Given the description of an element on the screen output the (x, y) to click on. 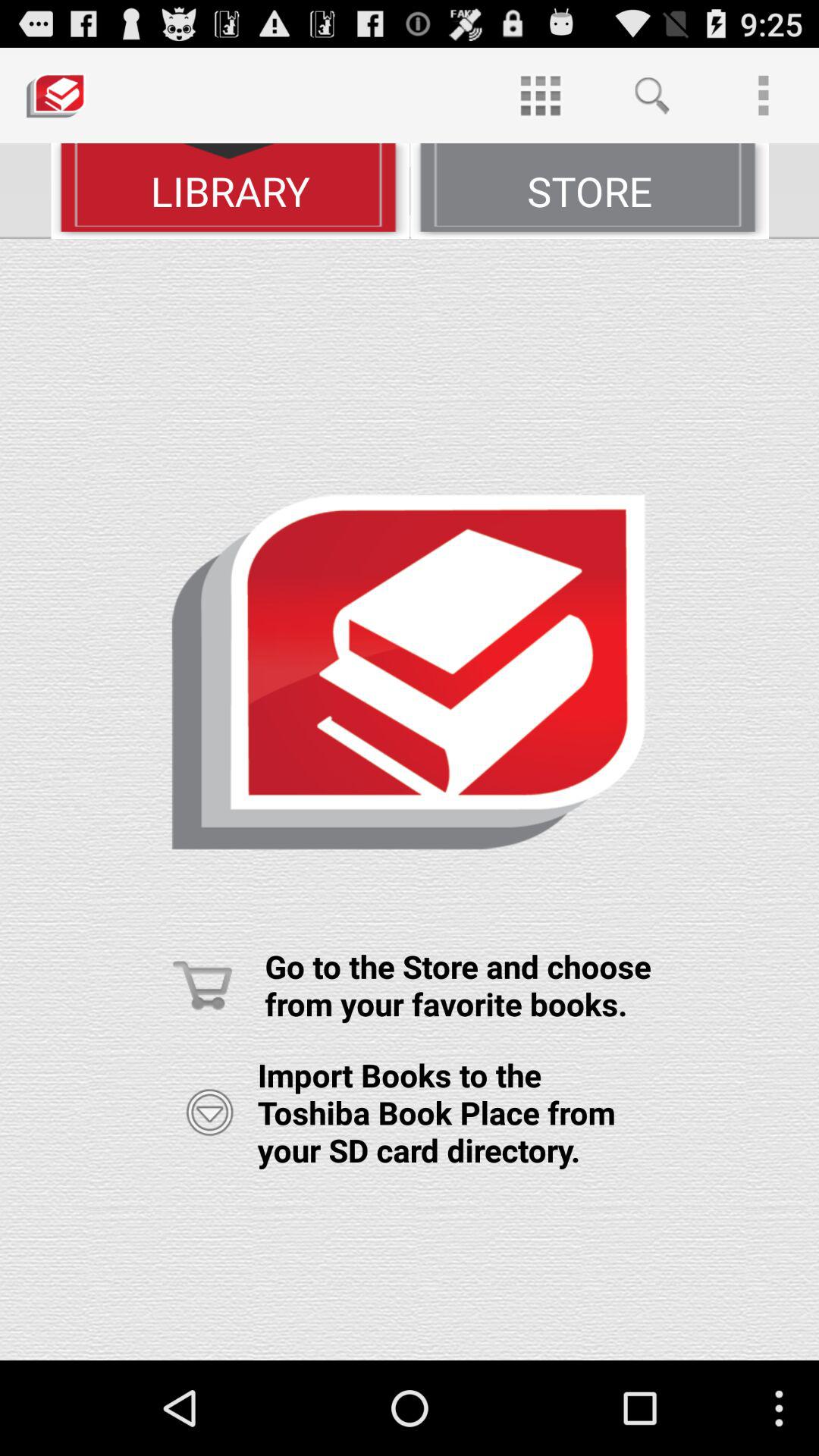
import books from your sd card directory (209, 1112)
